Given the description of an element on the screen output the (x, y) to click on. 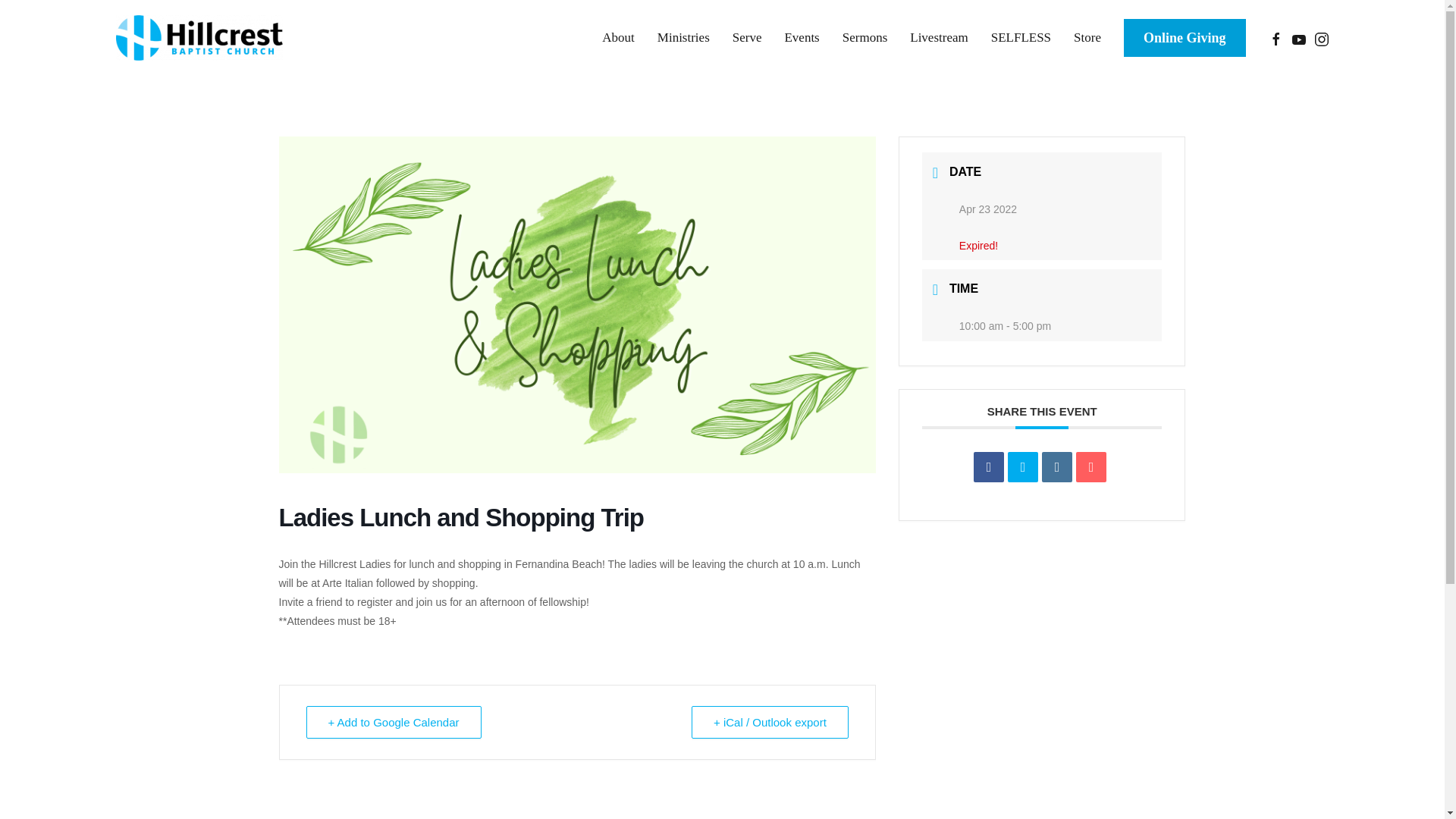
Share on Facebook (989, 467)
Email (1090, 467)
Tweet (1022, 467)
Linkedin (1056, 467)
